Given the description of an element on the screen output the (x, y) to click on. 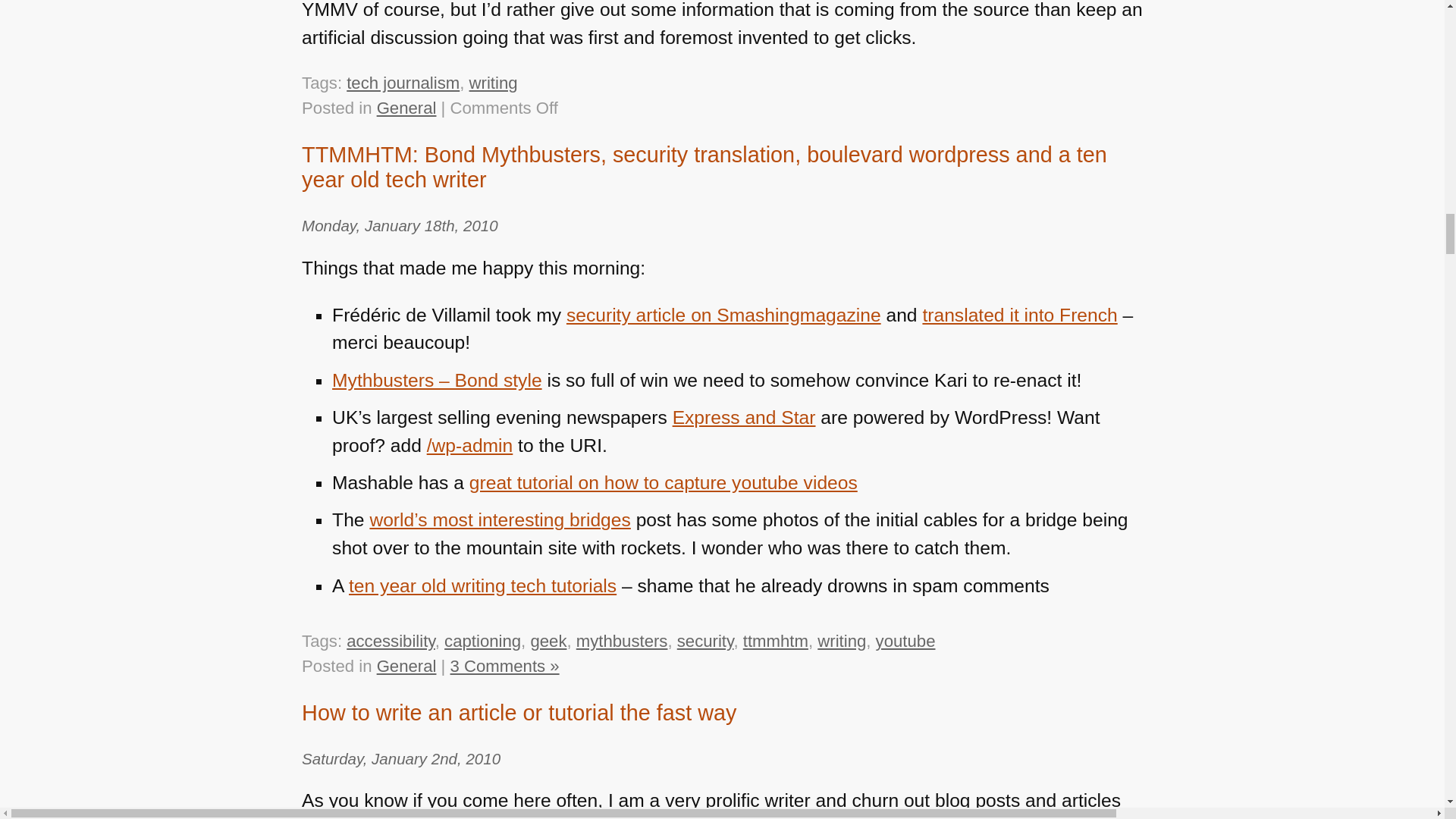
security (705, 640)
captioning (482, 640)
mythbusters (622, 640)
accessibility (390, 640)
General (406, 107)
translated it into French (1018, 314)
ttmmhtm (775, 640)
writing (493, 82)
